Given the description of an element on the screen output the (x, y) to click on. 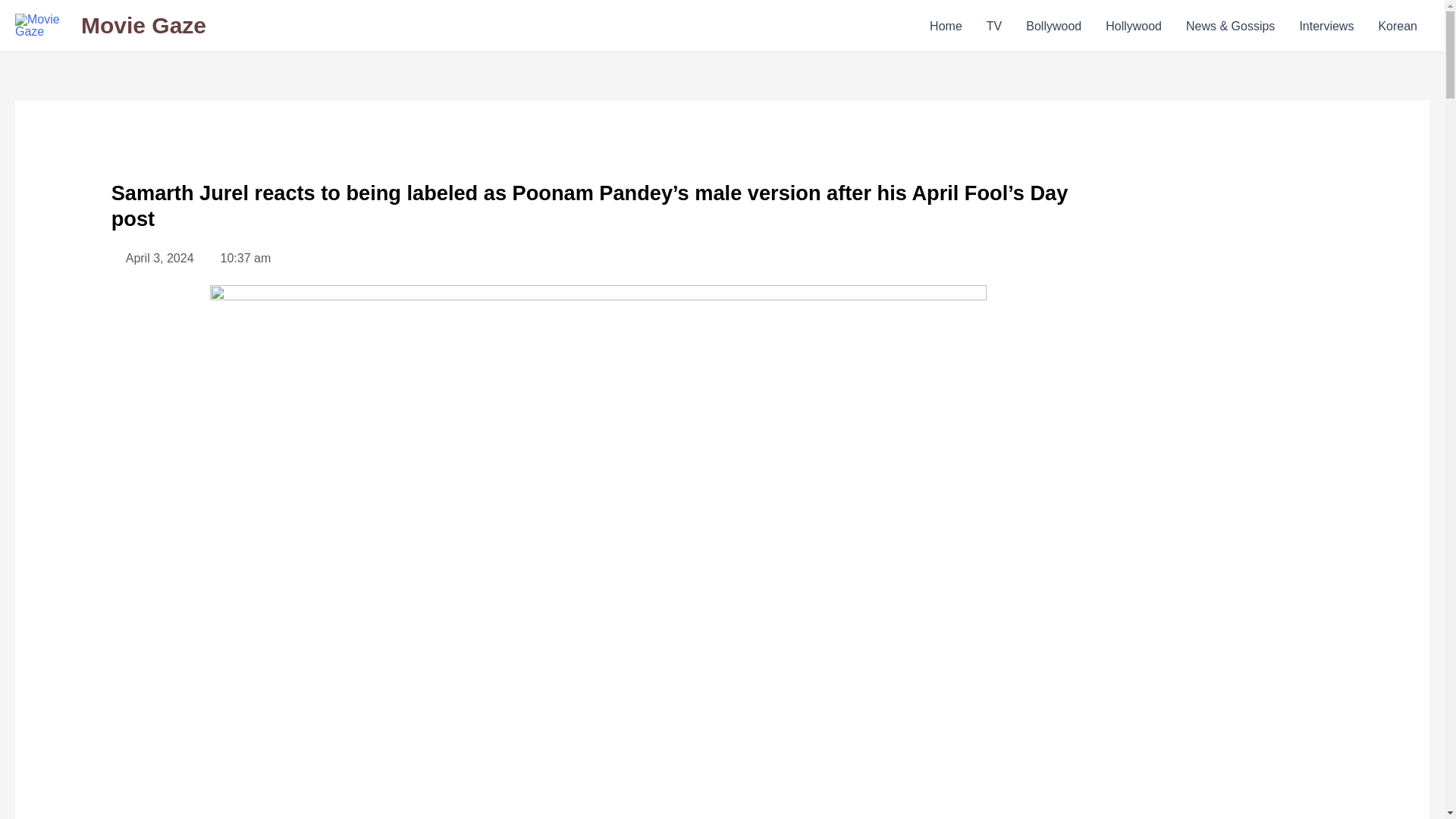
TV (993, 25)
Hollywood (1133, 25)
Korean (1397, 25)
Movie Gaze (143, 25)
Bollywood (1053, 25)
Home (945, 25)
Interviews (1326, 25)
April 3, 2024 (152, 258)
